Given the description of an element on the screen output the (x, y) to click on. 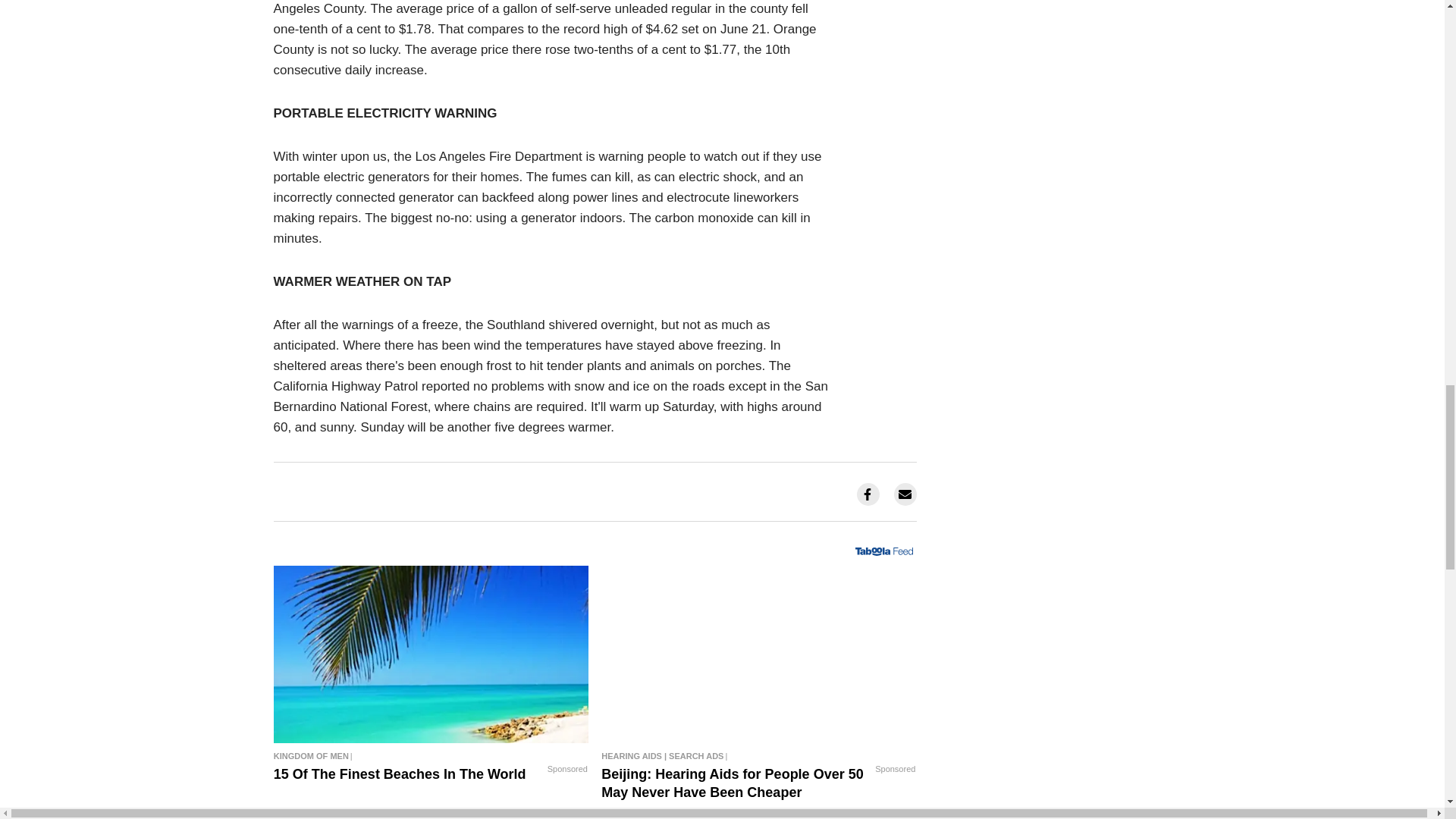
Sponsored (567, 769)
15 Of The Finest Beaches In The World (430, 653)
15 Of The Finest Beaches In The World (430, 755)
